Given the description of an element on the screen output the (x, y) to click on. 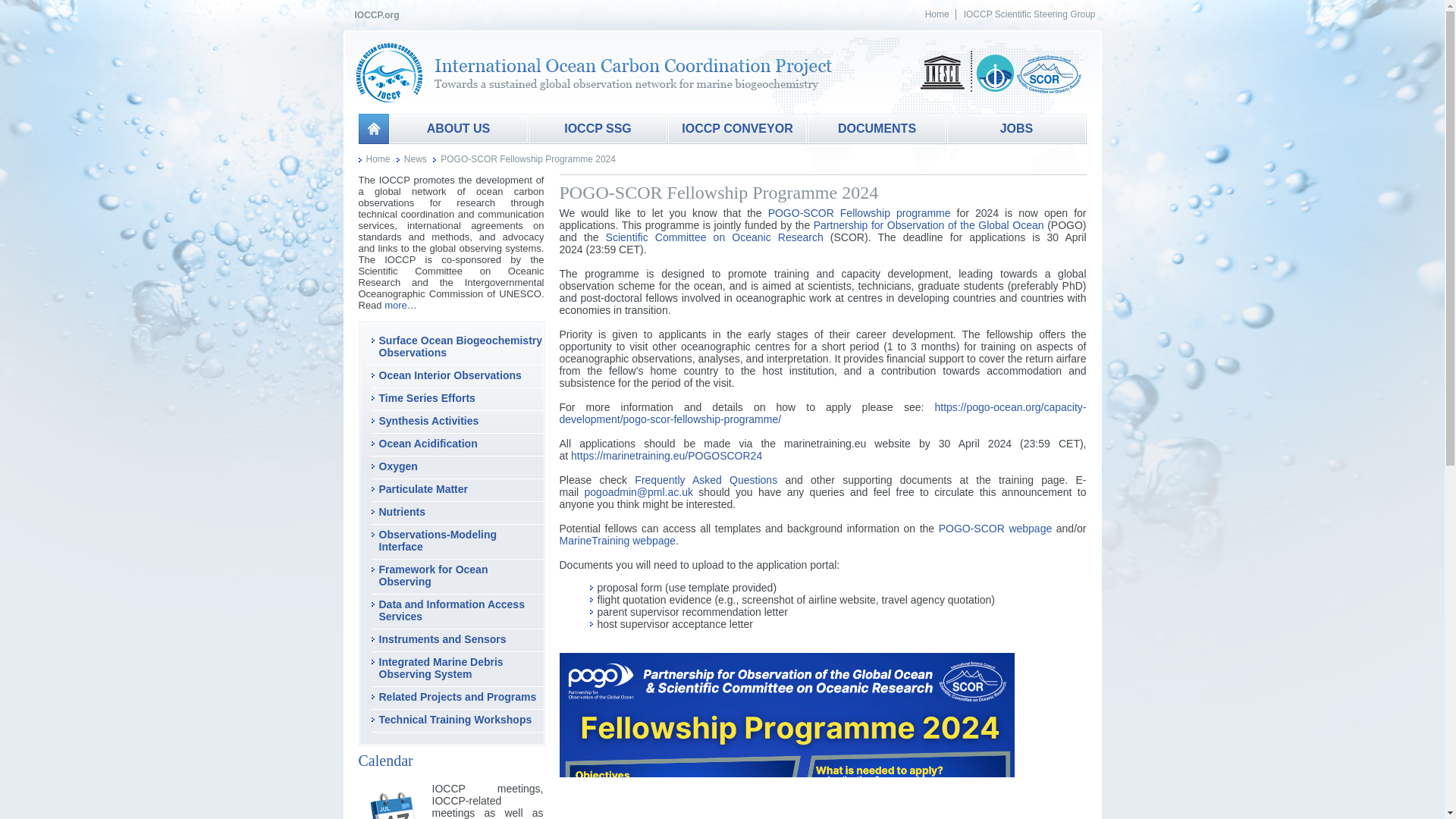
DOCUMENTS (876, 128)
Oxygen (397, 466)
Ocean Acidification (427, 443)
POGO-SCOR webpage (995, 528)
ABOUT US (457, 128)
JOBS (1016, 128)
IOCCP CONVEYOR (736, 128)
more (395, 305)
POGO-SCOR Fellowship programme (859, 213)
Ocean Interior Observations (449, 375)
